Given the description of an element on the screen output the (x, y) to click on. 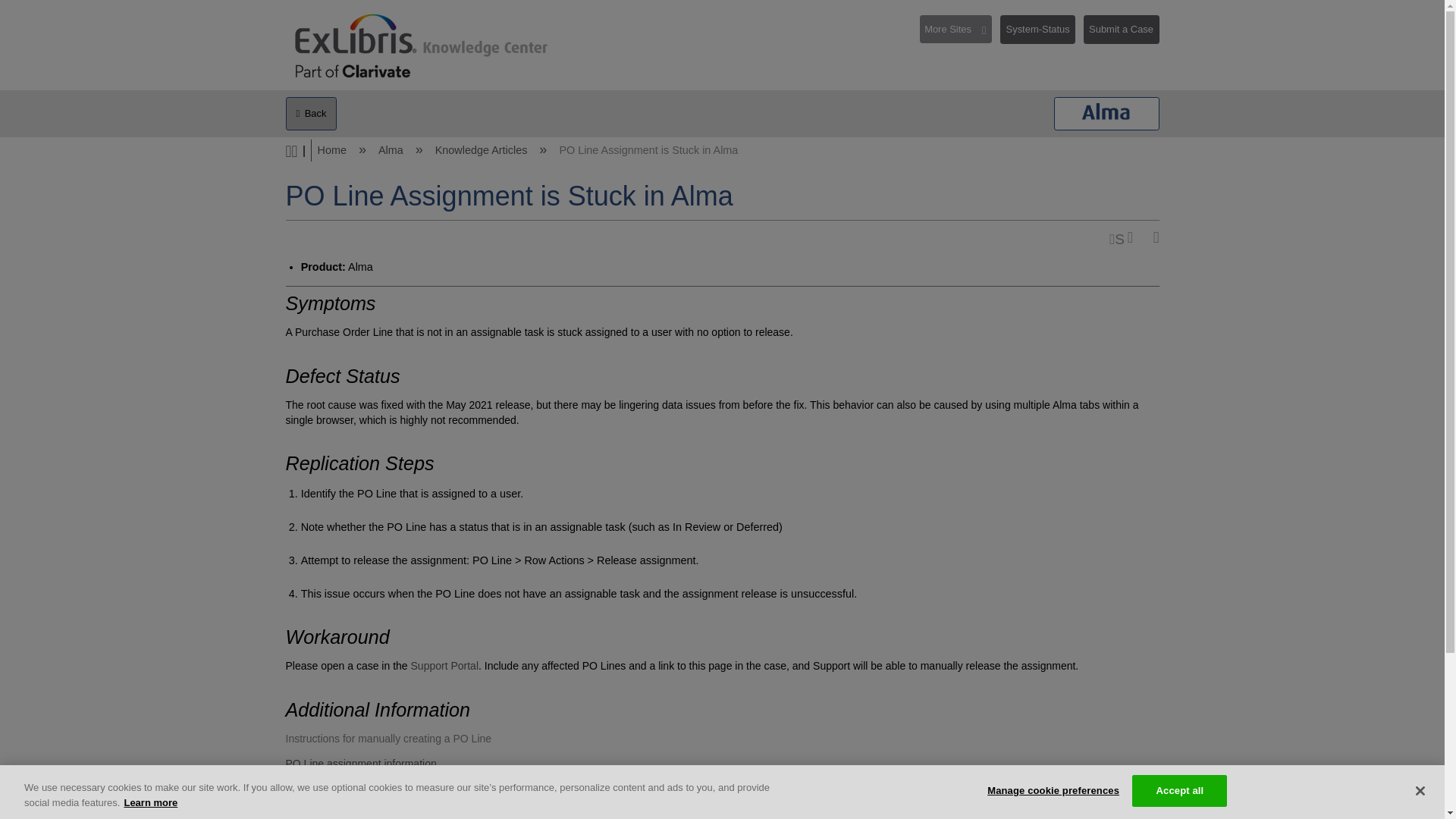
Alma (392, 150)
Back (310, 113)
Knowledge Articles (483, 150)
PO Line assignment information (360, 763)
System-Status (1037, 29)
Save as PDF (1133, 237)
Support Portal (444, 665)
ExLibris (421, 50)
Home (333, 150)
Export page as a PDF (1133, 237)
Share page by email (1116, 237)
Submit a Case (1120, 29)
Instructions for manually creating a PO Line (388, 738)
System-Status (1041, 34)
Share page by email (1116, 237)
